Given the description of an element on the screen output the (x, y) to click on. 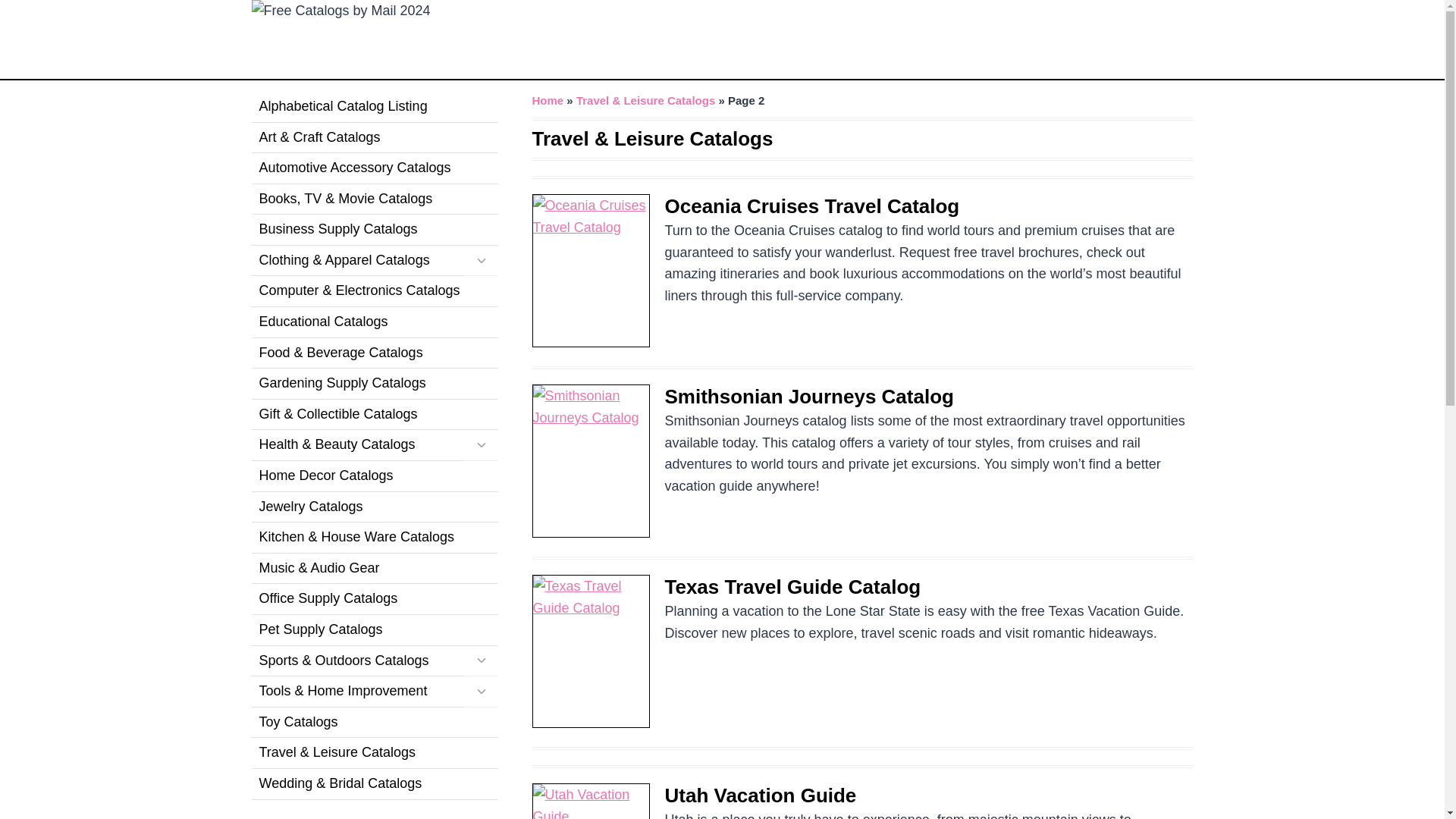
Business Supply Catalogs (374, 229)
Utah Vacation Guide (759, 794)
Educational Catalogs (374, 322)
Texas Travel Guide Catalog (791, 586)
Toggle child menu (480, 445)
Home (548, 100)
Oceania Cruises Travel Catalog (811, 205)
Toggle child menu (480, 260)
Smithsonian Journeys Catalog (808, 395)
Alphabetical Catalog Listing (374, 106)
Automotive Accessory Catalogs (374, 168)
Gardening Supply Catalogs (374, 383)
